Given the description of an element on the screen output the (x, y) to click on. 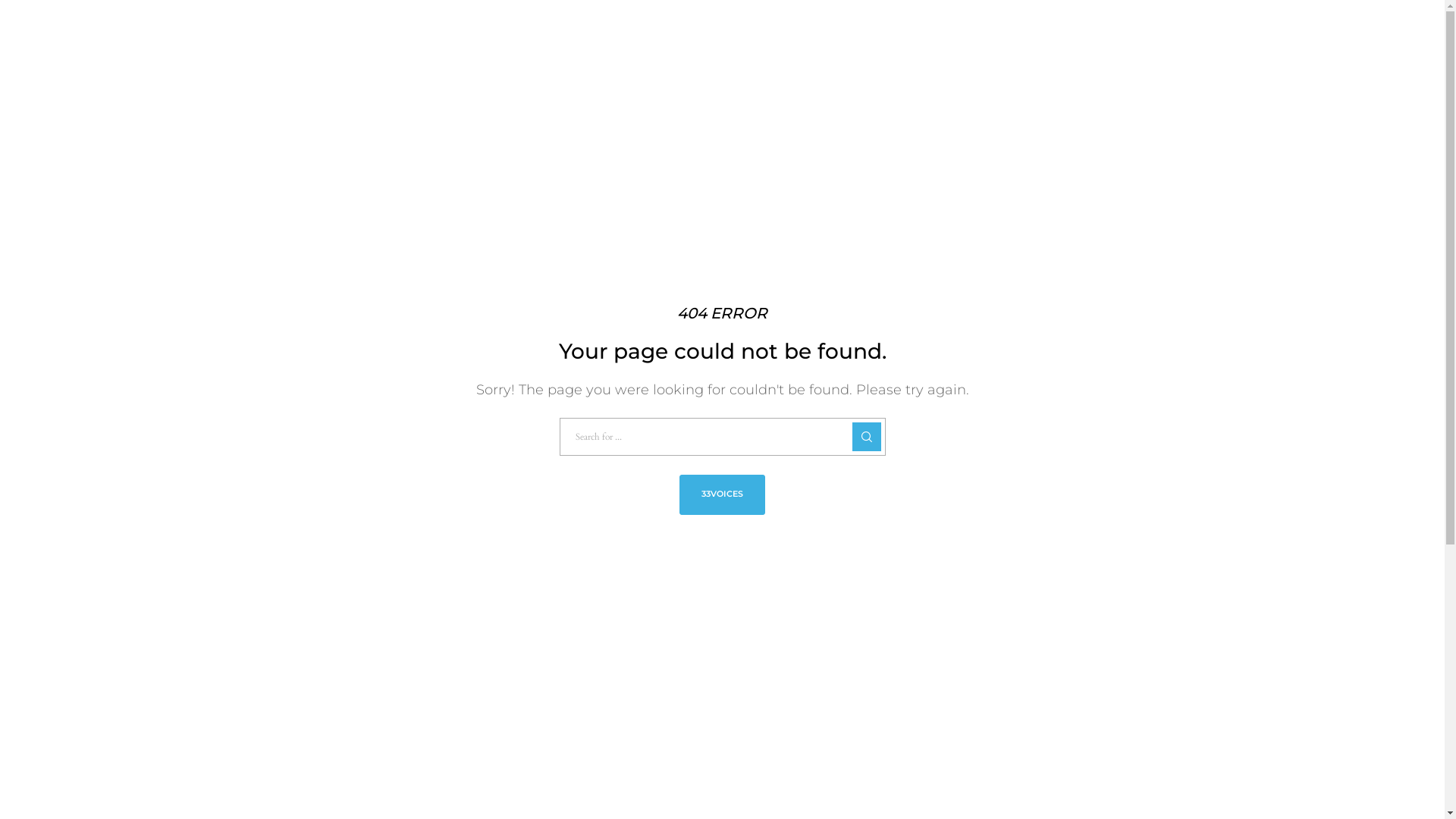
33VOICES Element type: text (722, 494)
